Given the description of an element on the screen output the (x, y) to click on. 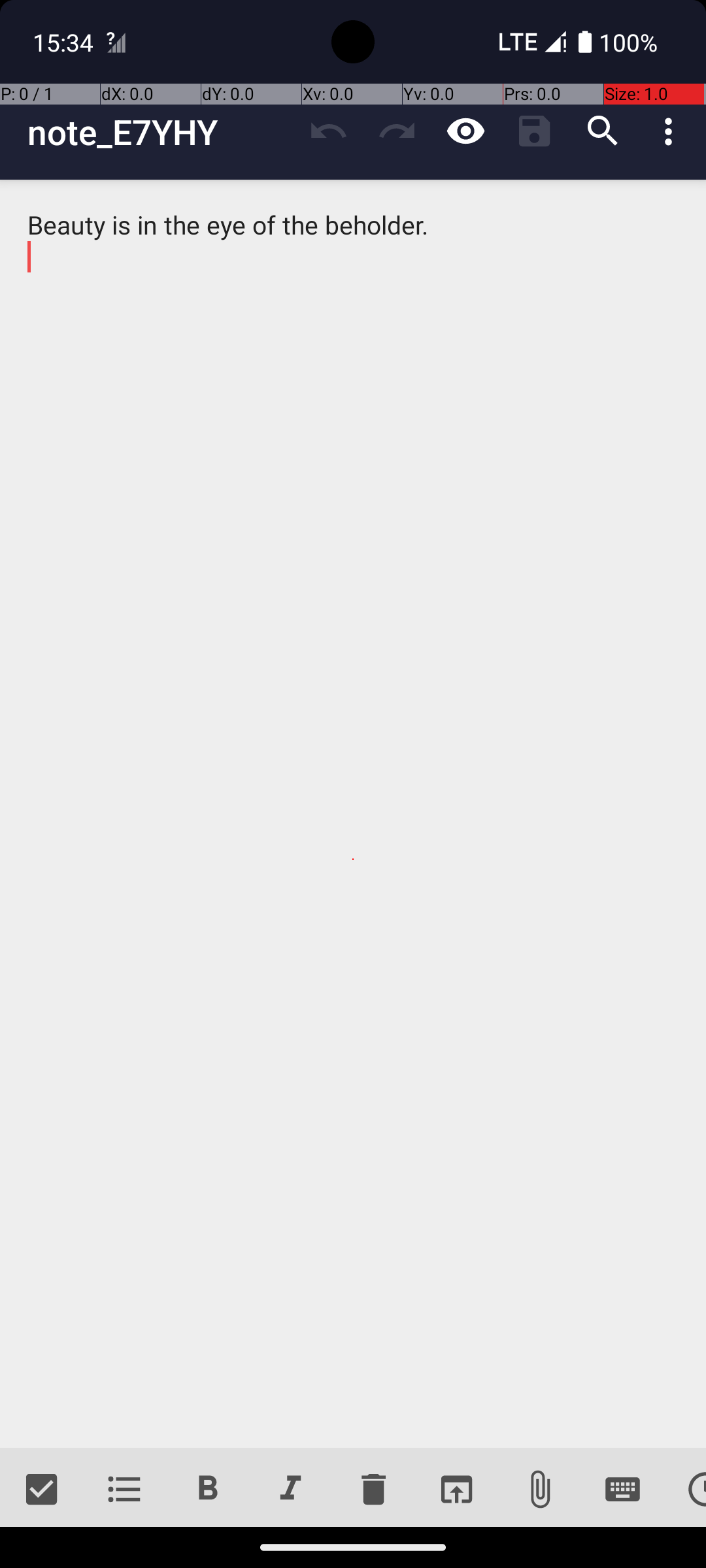
note_E7YHY Element type: android.widget.TextView (160, 131)
Beauty is in the eye of the beholder.
 Element type: android.widget.EditText (353, 813)
